Given the description of an element on the screen output the (x, y) to click on. 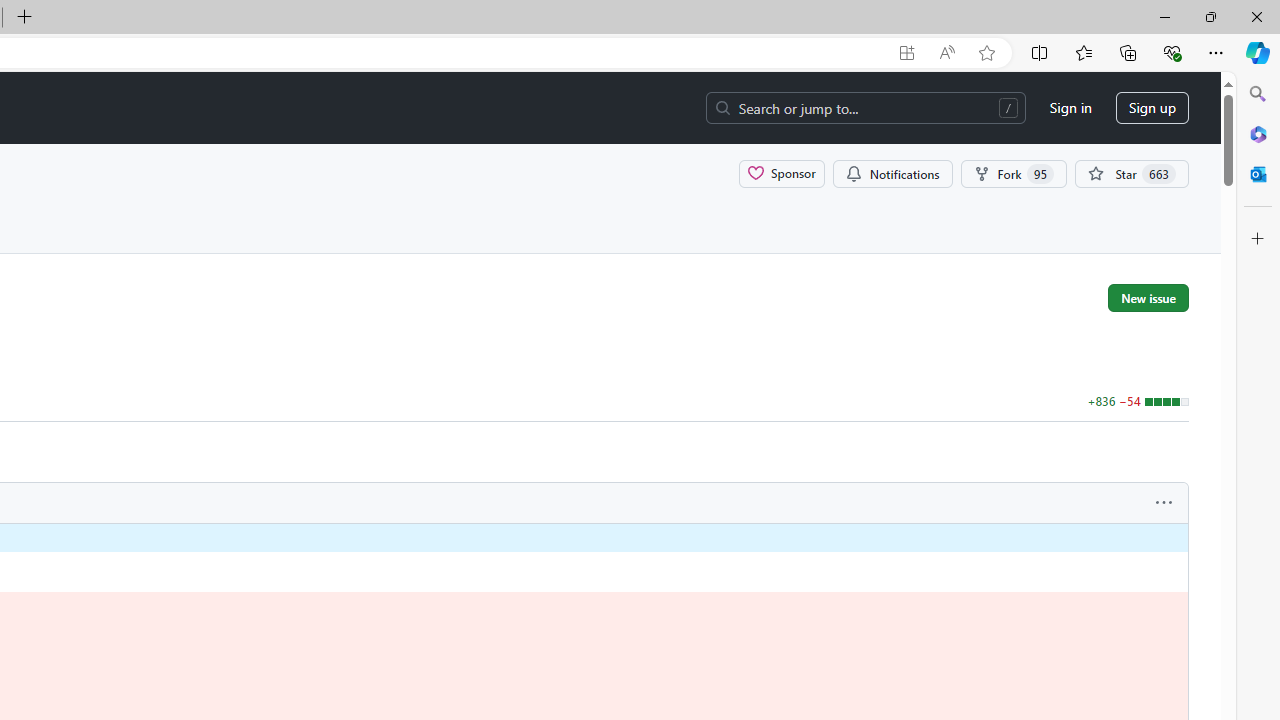
Sponsor (781, 173)
